Given the description of an element on the screen output the (x, y) to click on. 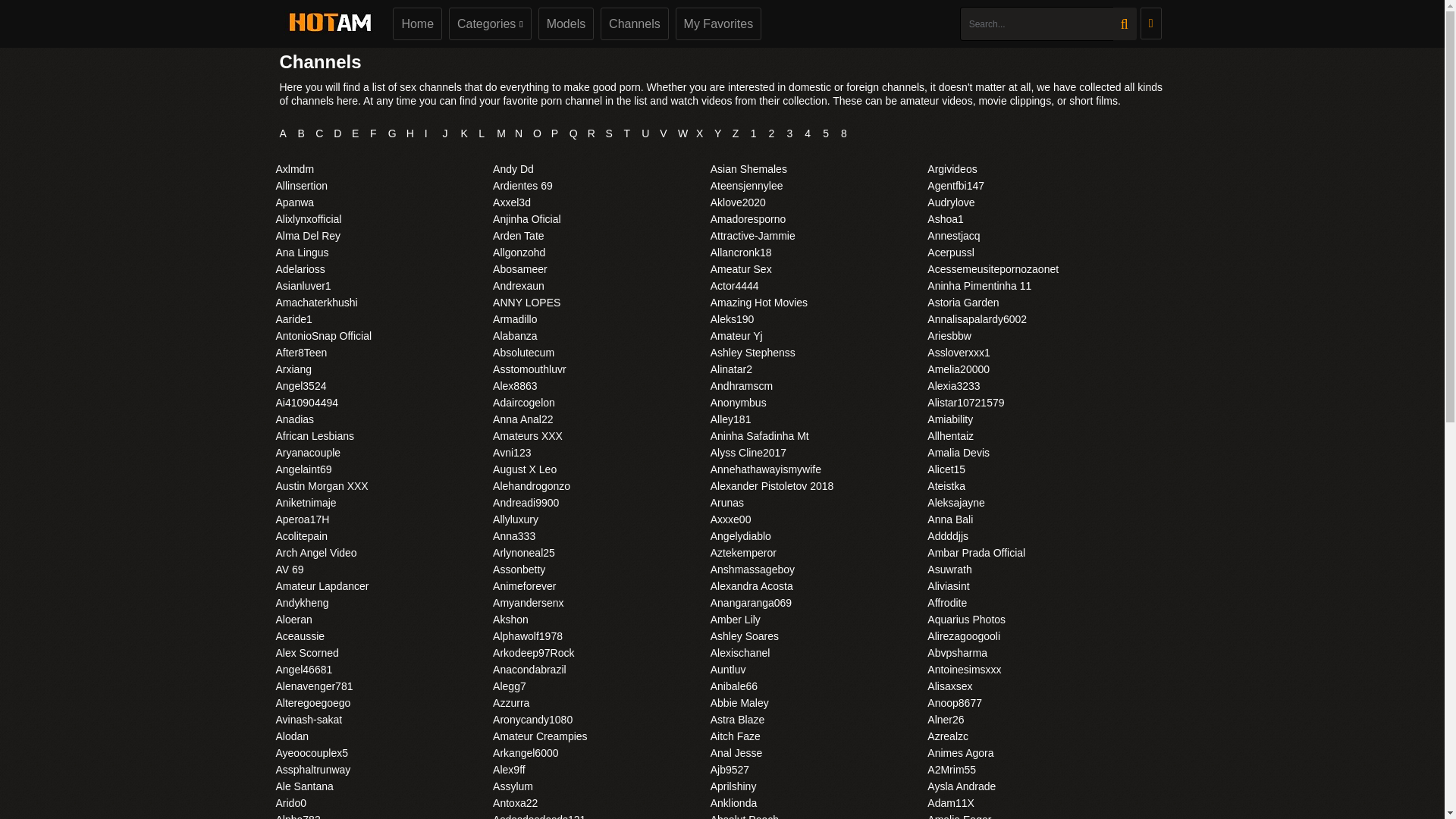
Home (417, 23)
Models (566, 23)
B (305, 133)
A (286, 133)
Channels (633, 23)
My Favorites (718, 23)
Categories (489, 23)
